Given the description of an element on the screen output the (x, y) to click on. 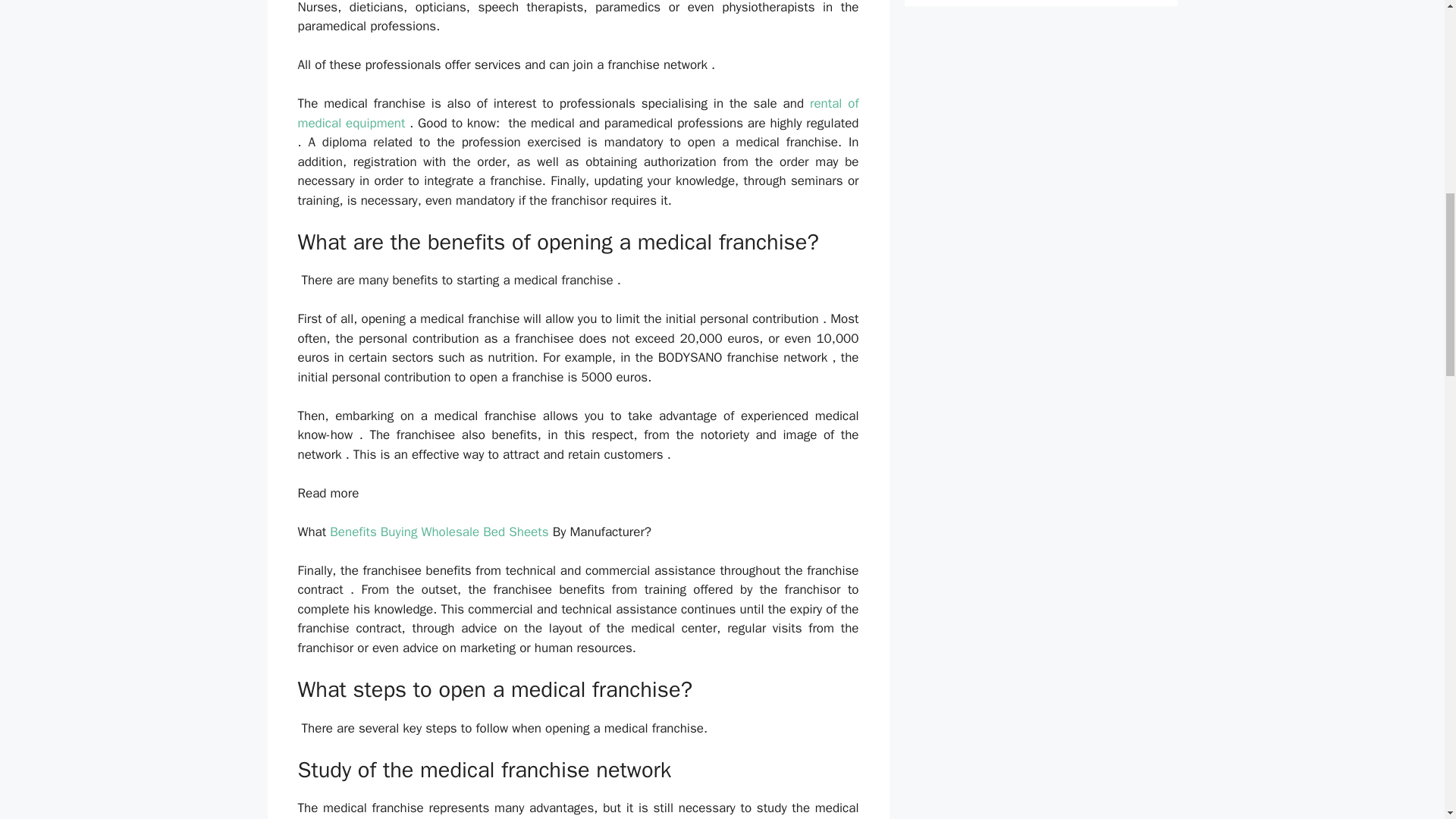
Benefits Buying Wholesale Bed Sheets (439, 531)
rental of medical equipment (578, 113)
